Given the description of an element on the screen output the (x, y) to click on. 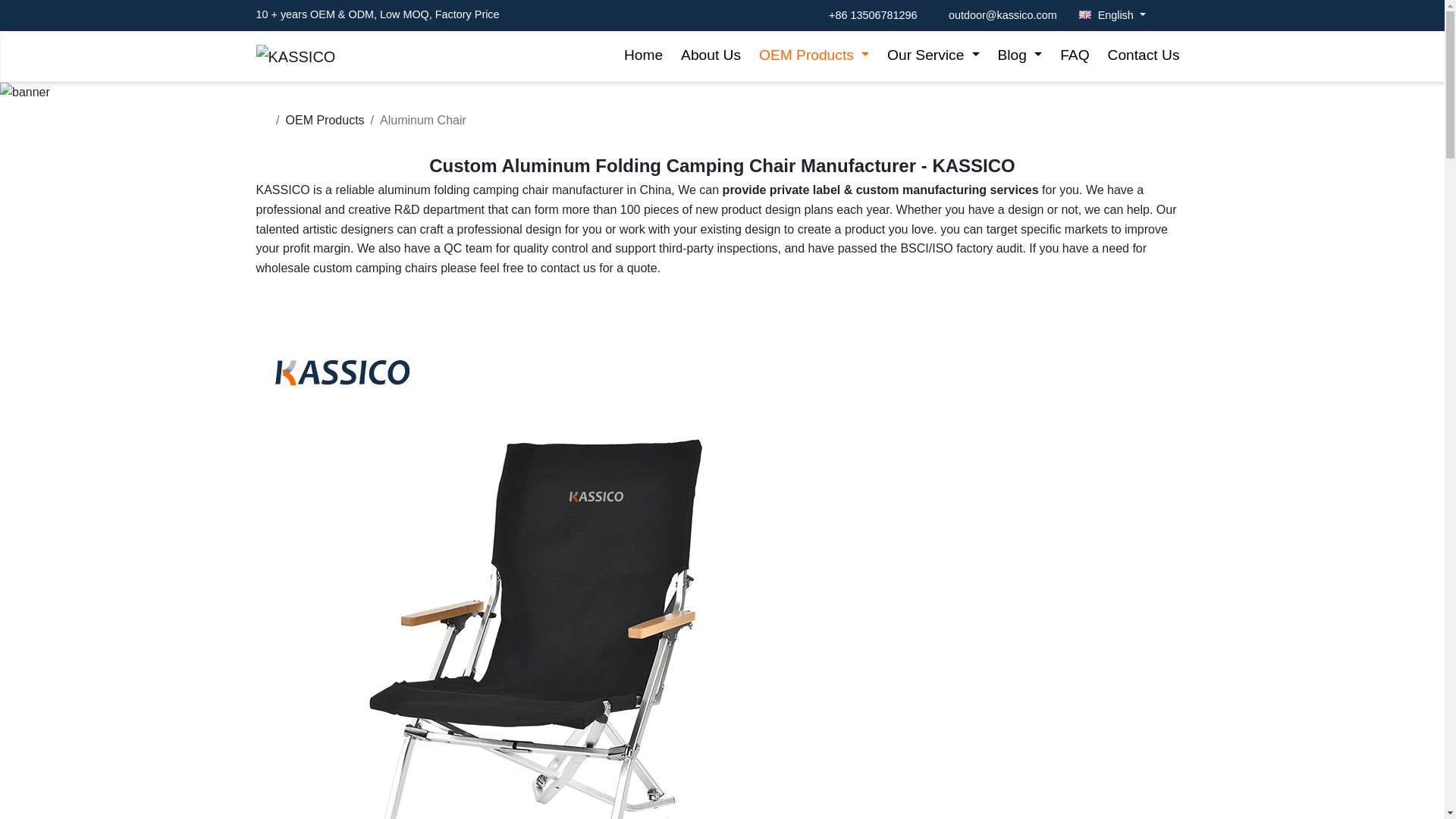
Home (642, 55)
About Us (710, 55)
English (1107, 15)
OEM Products (813, 55)
